Given the description of an element on the screen output the (x, y) to click on. 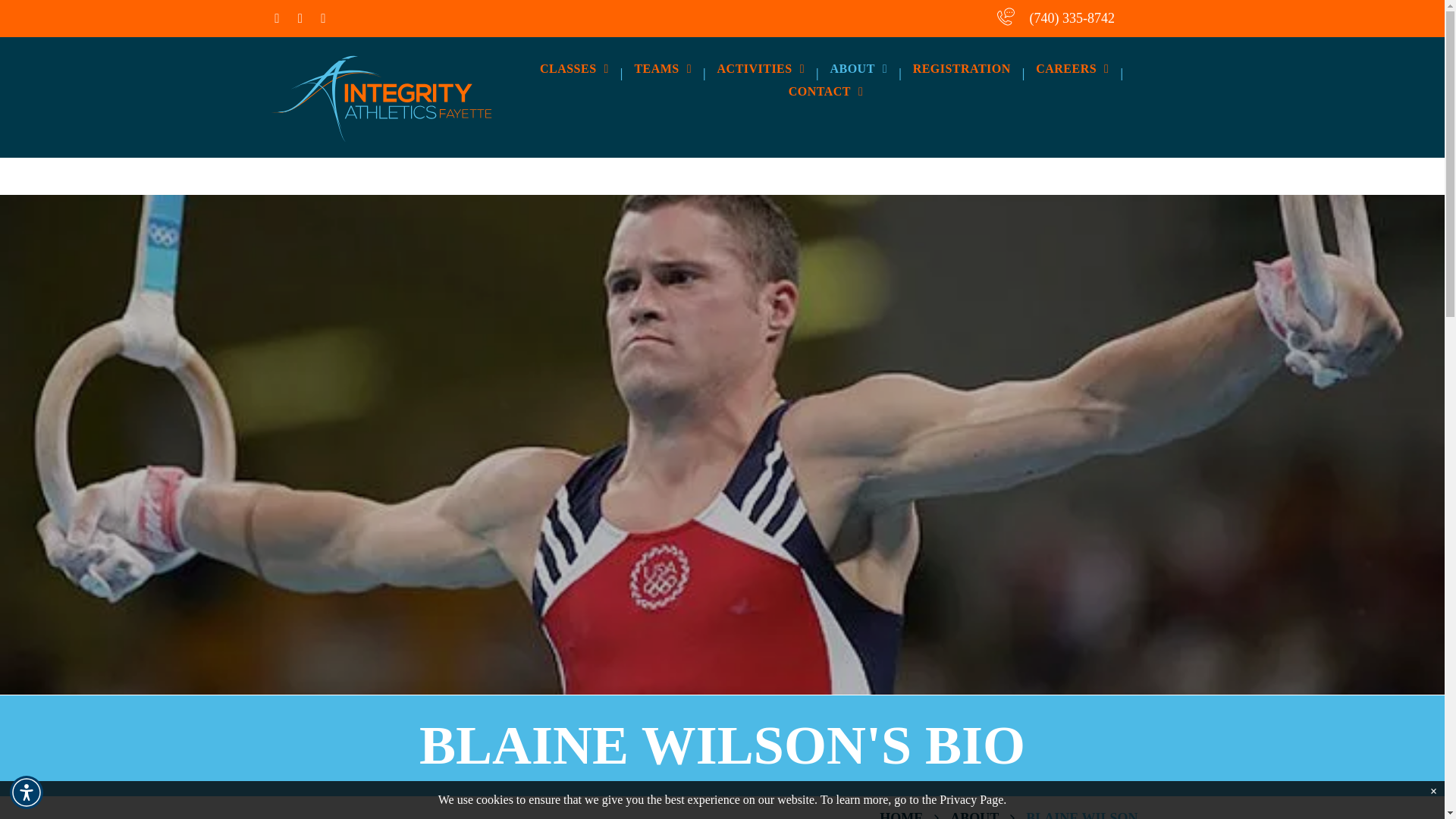
Accessibility Menu (26, 792)
TEAMS (663, 69)
A black and white drawing of a phone with a speech bubble. (1004, 16)
CONTACT (826, 91)
CLASSES (574, 69)
ABOUT (858, 69)
HOME (901, 814)
ACTIVITIES (760, 69)
CAREERS (1072, 69)
ABOUT (974, 814)
